Given the description of an element on the screen output the (x, y) to click on. 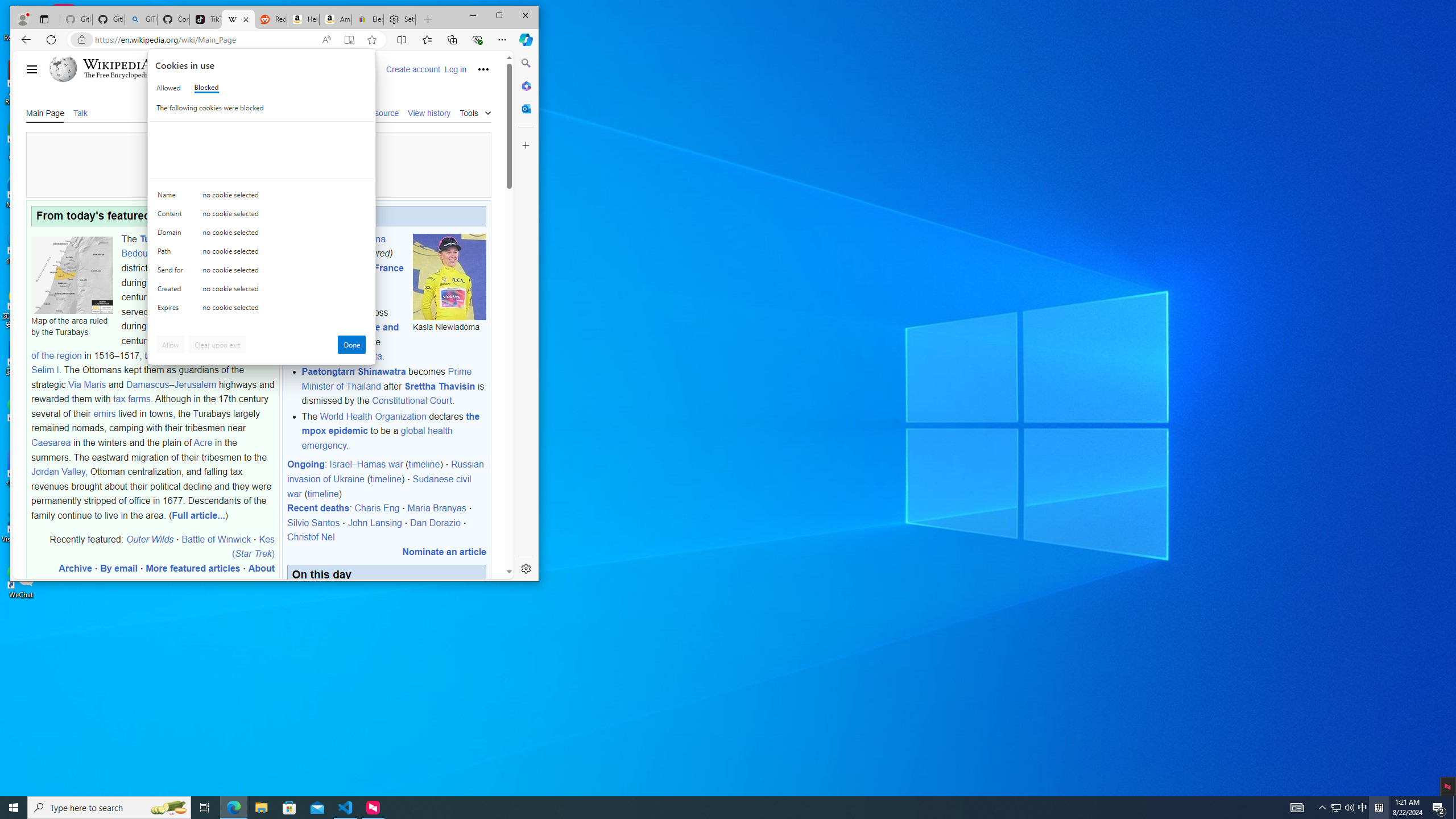
Send for (172, 272)
Q2790: 100% (1349, 807)
Class: c0153 c0157 c0154 (261, 197)
Microsoft Store (289, 807)
Running applications (707, 807)
Done (351, 344)
Domain (172, 235)
Task View (204, 807)
Path (172, 253)
Created (172, 291)
Action Center, 2 new notifications (1439, 807)
AutomationID: 4105 (1297, 807)
Notification Chevron (1362, 807)
